Given the description of an element on the screen output the (x, y) to click on. 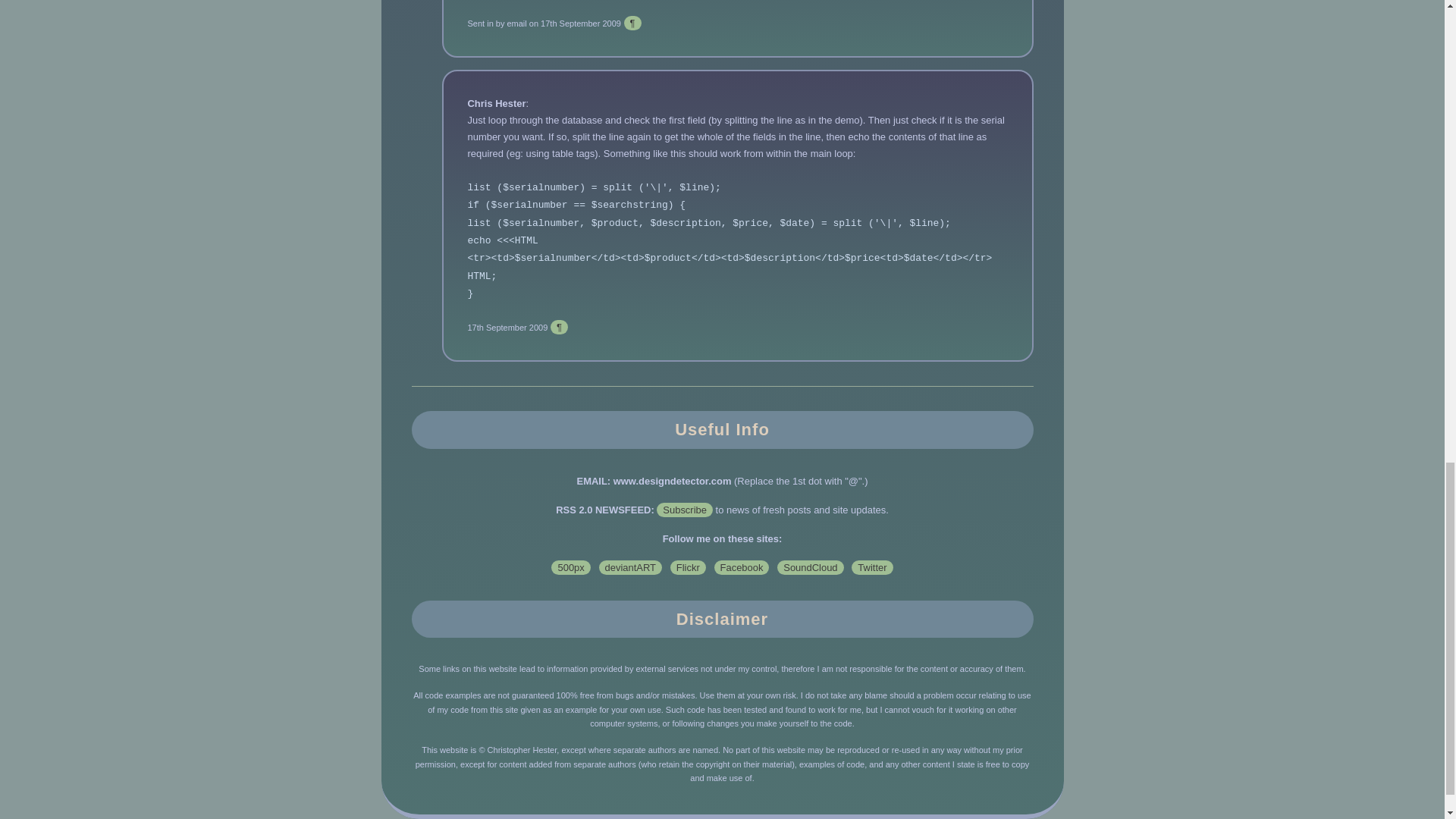
500px (570, 567)
Flickr (687, 567)
Twitter (871, 567)
SoundCloud (810, 567)
Permalink to this comment (558, 327)
deviantART (630, 567)
Permalink to this comment (633, 22)
Subscribe (684, 509)
Facebook (742, 567)
